Given the description of an element on the screen output the (x, y) to click on. 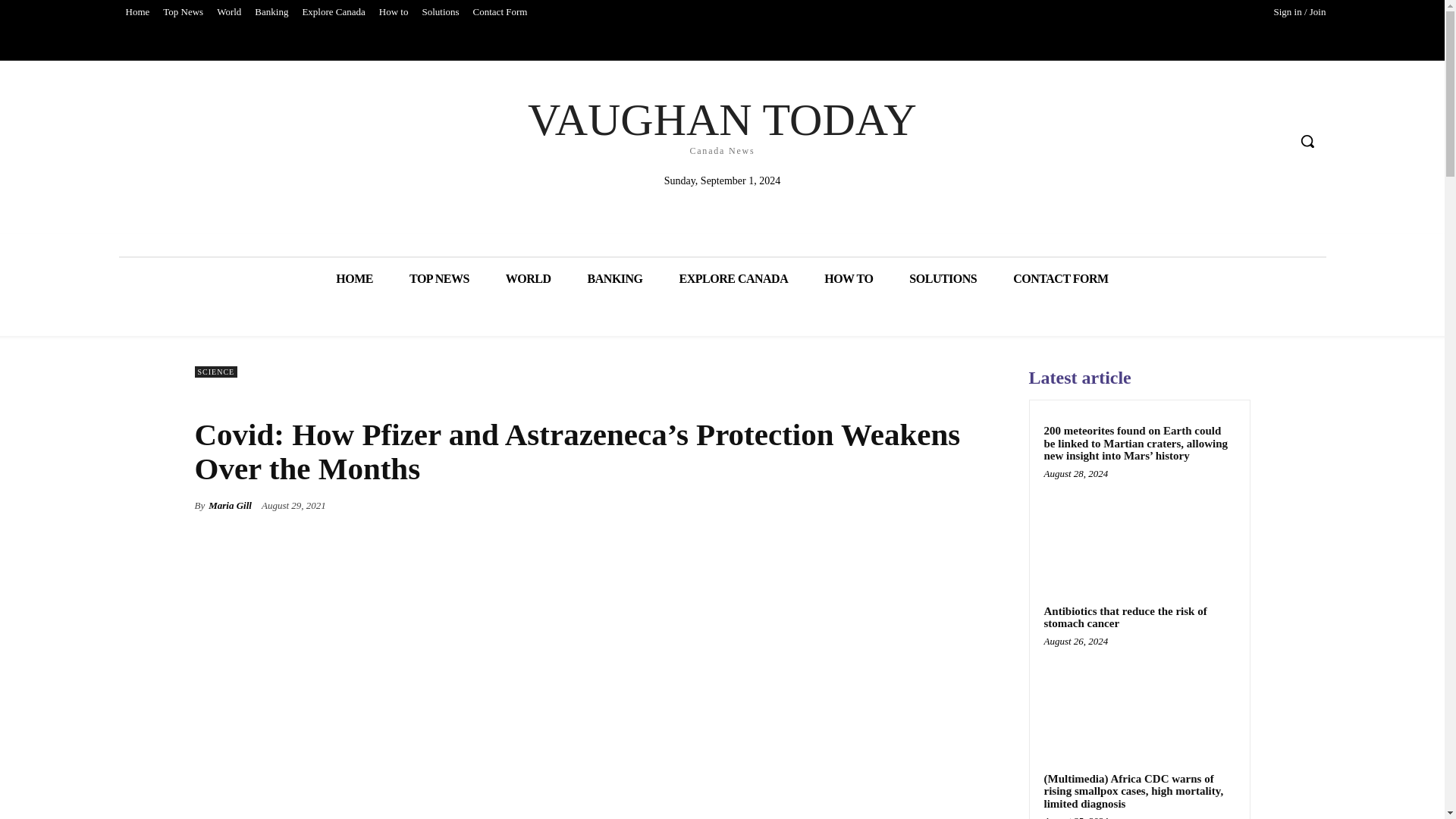
Contact Form (499, 12)
How to (393, 12)
Home (136, 12)
HOW TO (848, 278)
Top News (182, 12)
BANKING (615, 278)
Solutions (439, 12)
TOP NEWS (439, 278)
WORLD (528, 278)
HOME (354, 278)
